Given the description of an element on the screen output the (x, y) to click on. 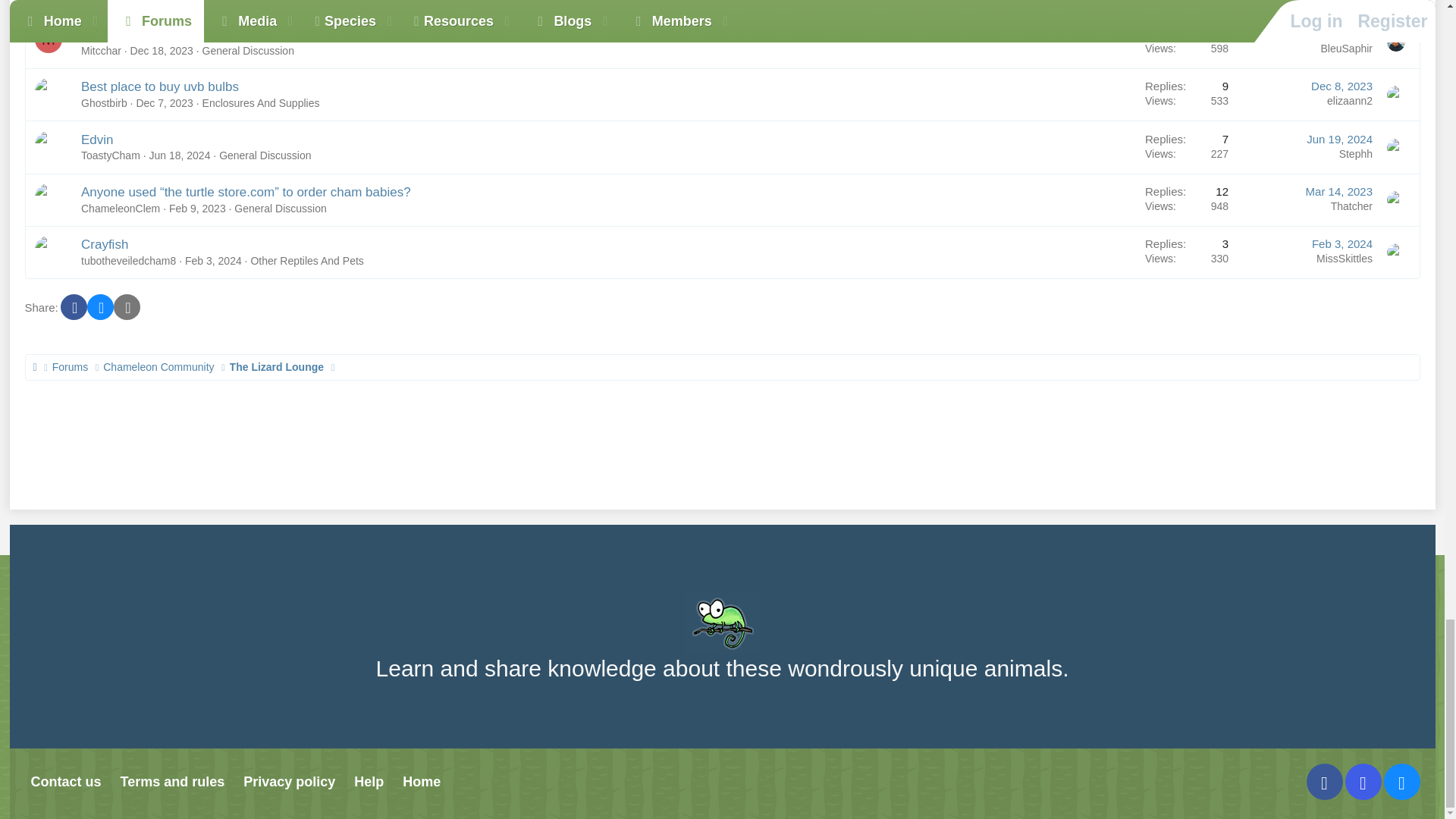
Dec 18, 2023 at 7:17 AM (162, 50)
Dec 19, 2023 at 4:21 AM (1338, 33)
First message reaction score: 2 (1187, 41)
Dec 7, 2023 at 11:58 AM (164, 102)
